Given the description of an element on the screen output the (x, y) to click on. 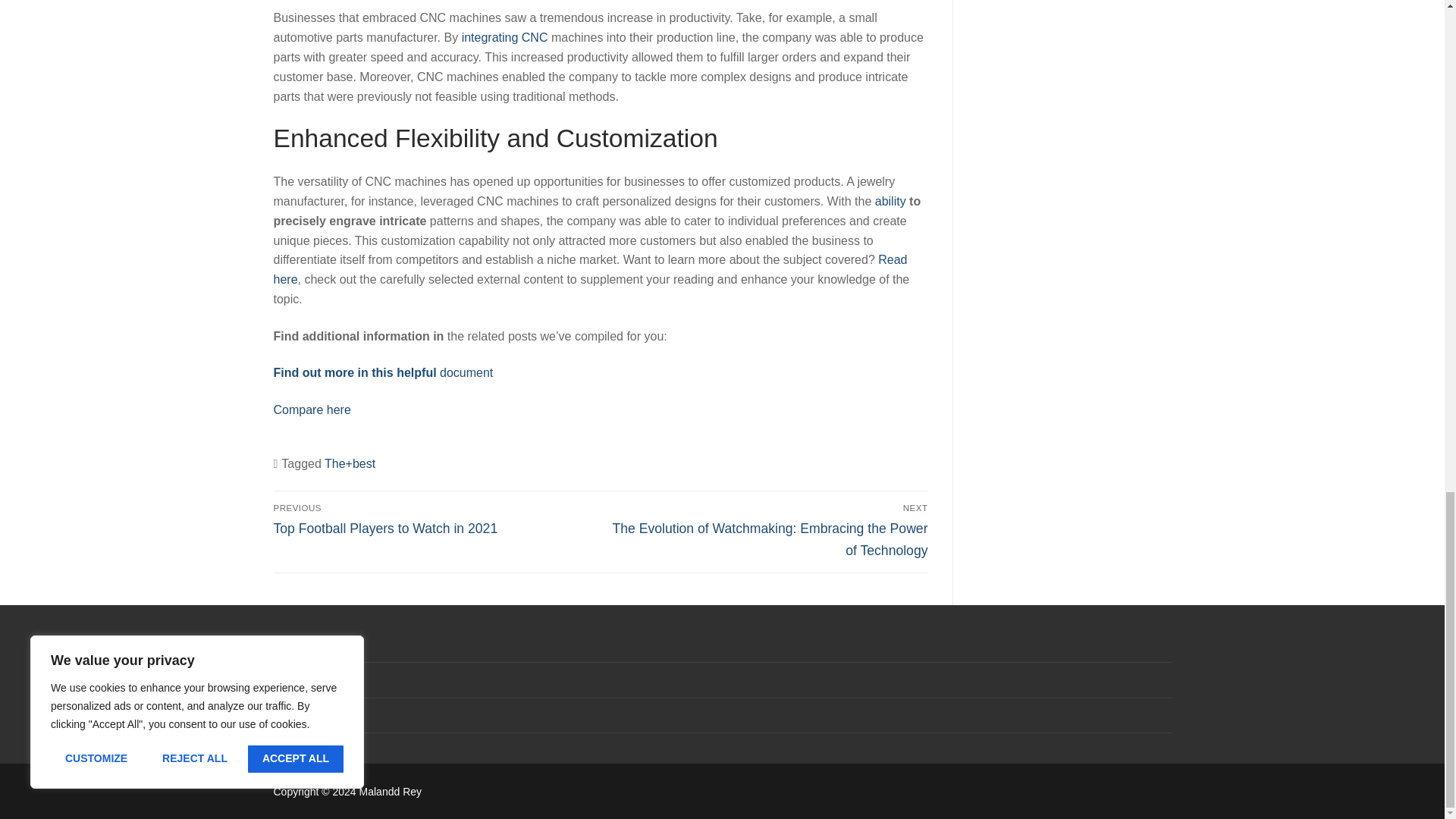
Read here (590, 269)
Find out more in this helpful document (383, 372)
Compare here (311, 409)
ability (890, 201)
integrating CNC (504, 37)
